Given the description of an element on the screen output the (x, y) to click on. 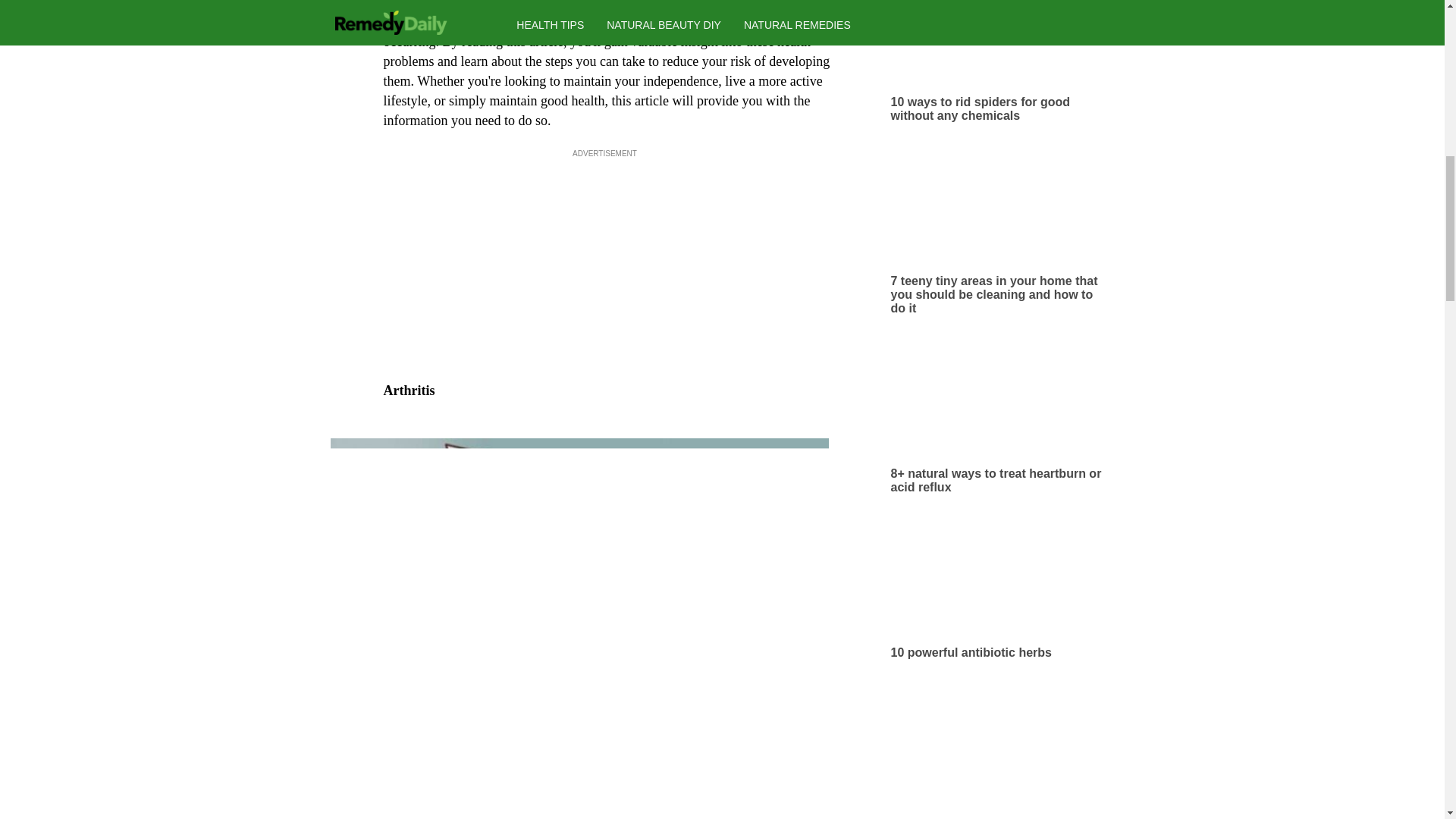
About Ads (640, 62)
10 powerful antibiotic herbs (1000, 592)
Terms of Use (706, 62)
Do Not Sell My Info (866, 62)
10 ways to rid spiders for good without any chemicals (1000, 61)
Privacy Policy (779, 62)
